Given the description of an element on the screen output the (x, y) to click on. 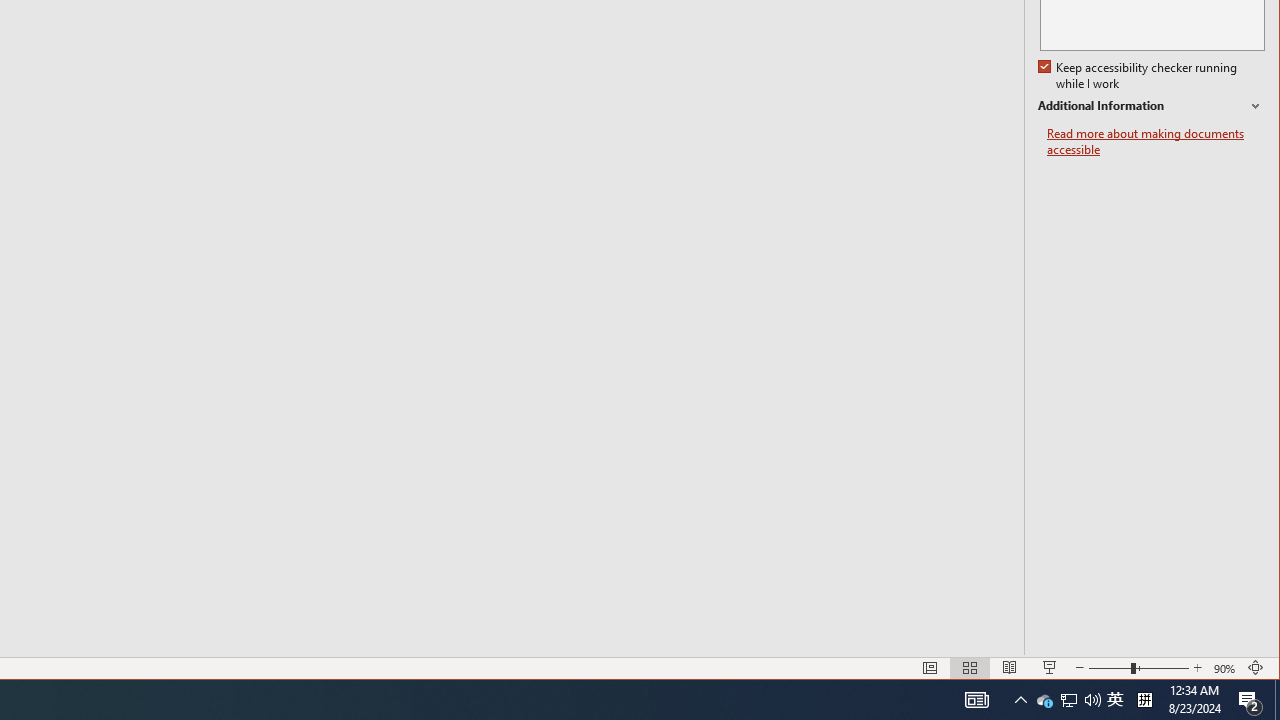
Tray Input Indicator - Chinese (Simplified, China) (1144, 699)
Action Center, 2 new notifications (1250, 699)
Q2790: 100% (1092, 699)
AutomationID: 4105 (976, 699)
Additional Information (1151, 106)
Show desktop (1115, 699)
Read more about making documents accessible (1277, 699)
Notification Chevron (1155, 142)
